Given the description of an element on the screen output the (x, y) to click on. 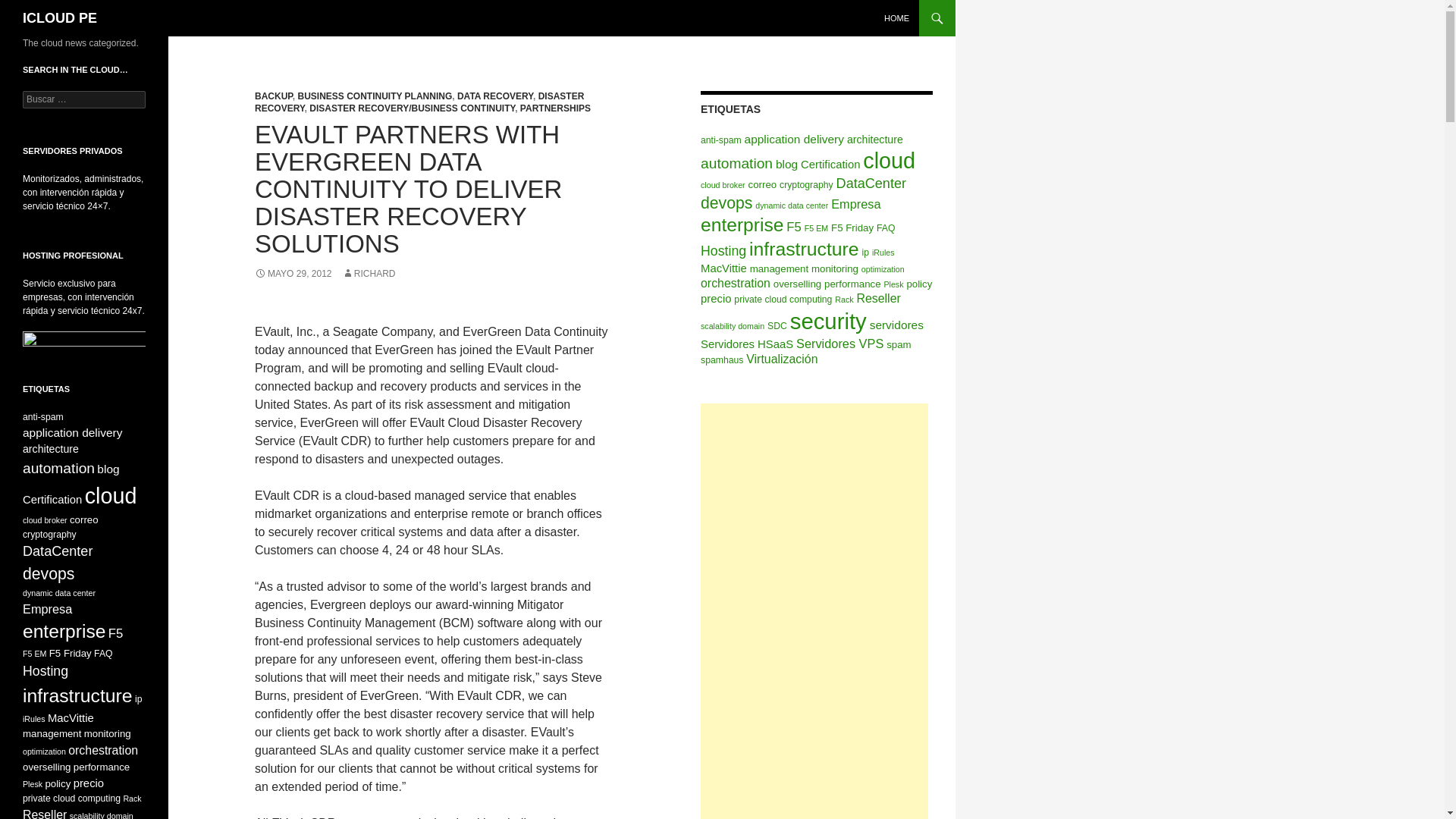
cryptography (805, 184)
F5 EM (816, 227)
F5 Friday (852, 227)
RICHARD (369, 273)
Certification (830, 164)
PARTNERSHIPS (555, 108)
application delivery (794, 138)
MAYO 29, 2012 (292, 273)
Hosting (722, 250)
Empresa (855, 203)
